Given the description of an element on the screen output the (x, y) to click on. 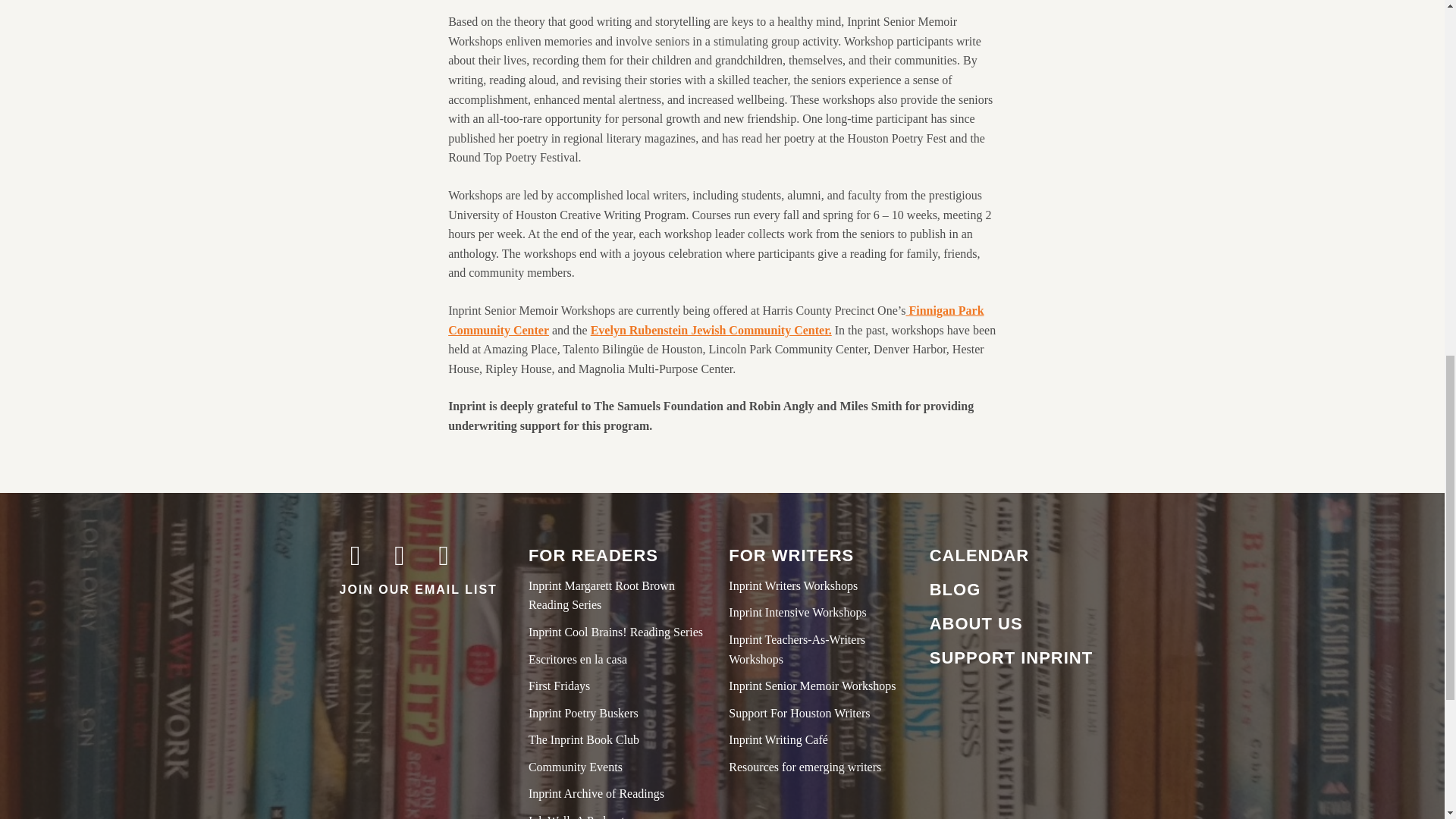
Inprint Poetry Buskers (622, 713)
FOR READERS (622, 555)
Escritores en la casa (622, 659)
Ink Well: A Podcast (622, 815)
Inprint Margarett Root Brown Reading Series (622, 595)
linkedin (487, 583)
Community Events (622, 767)
Evelyn Rubenstein Jewish Community Center. (711, 329)
Inprint Cool Brains! Reading Series (622, 632)
Inprint Archive of Readings (622, 793)
Finnigan Park Community Center (716, 319)
First Fridays (622, 686)
The Inprint Book Club (622, 740)
